Given the description of an element on the screen output the (x, y) to click on. 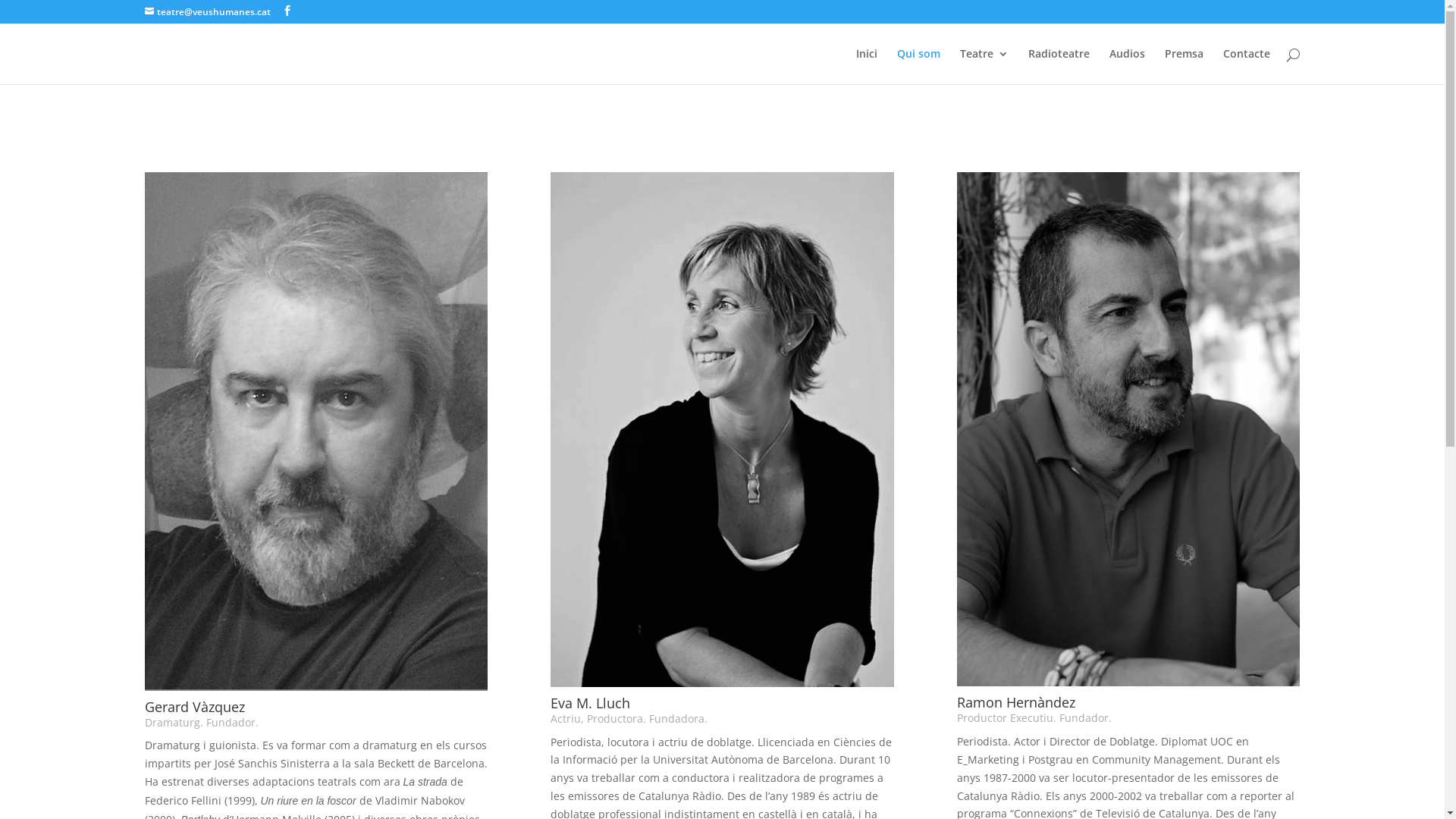
Inici Element type: text (865, 66)
Radioteatre Element type: text (1058, 66)
Qui som Element type: text (917, 66)
Contacte Element type: text (1245, 66)
Teatre Element type: text (984, 66)
teatre@veushumanes.cat Element type: text (206, 11)
Premsa Element type: text (1183, 66)
Audios Element type: text (1126, 66)
